Given the description of an element on the screen output the (x, y) to click on. 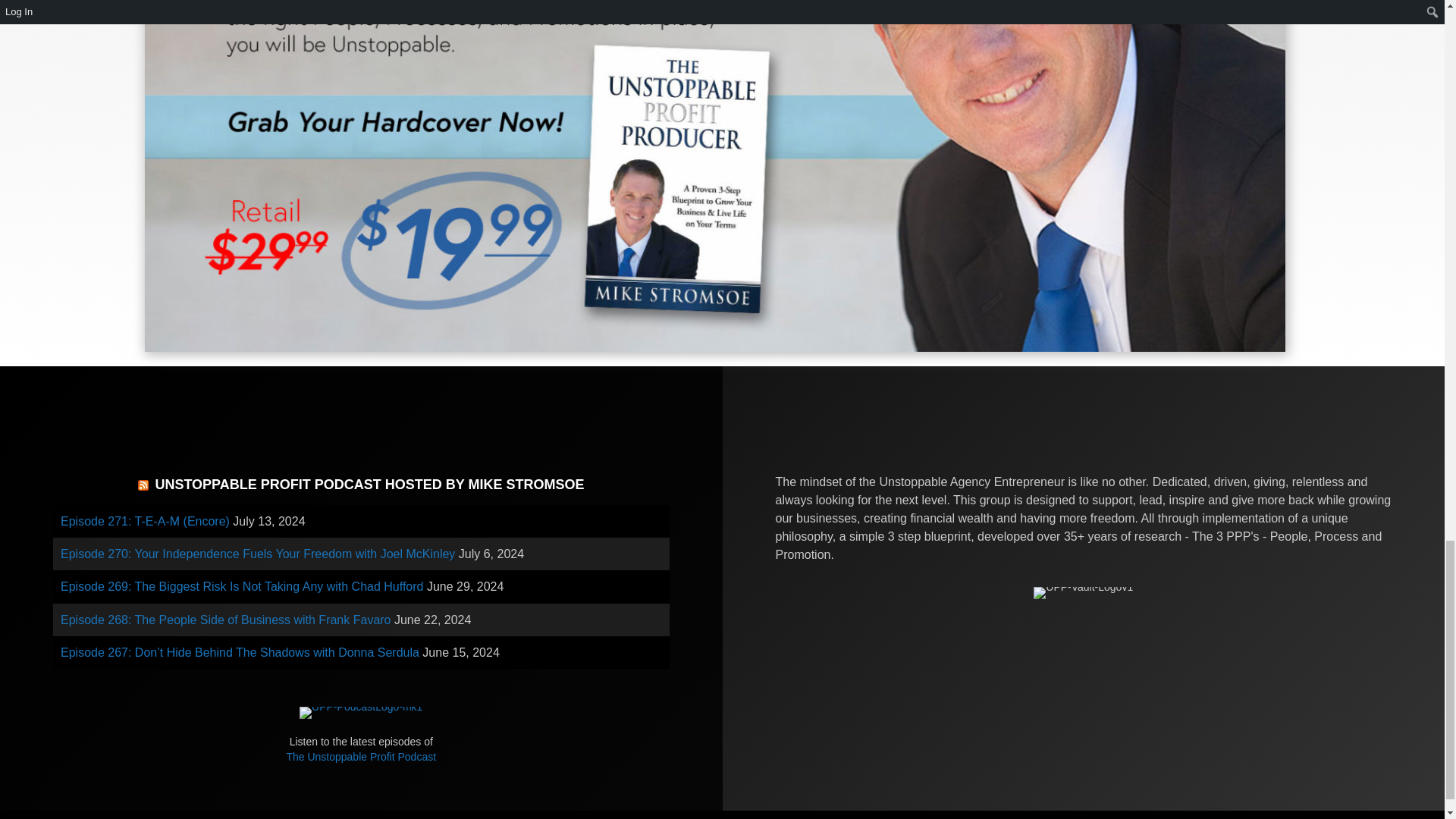
UPP-Vault-Logov1 (1082, 592)
UPP-PodcastLogo-mk1 (360, 712)
